Given the description of an element on the screen output the (x, y) to click on. 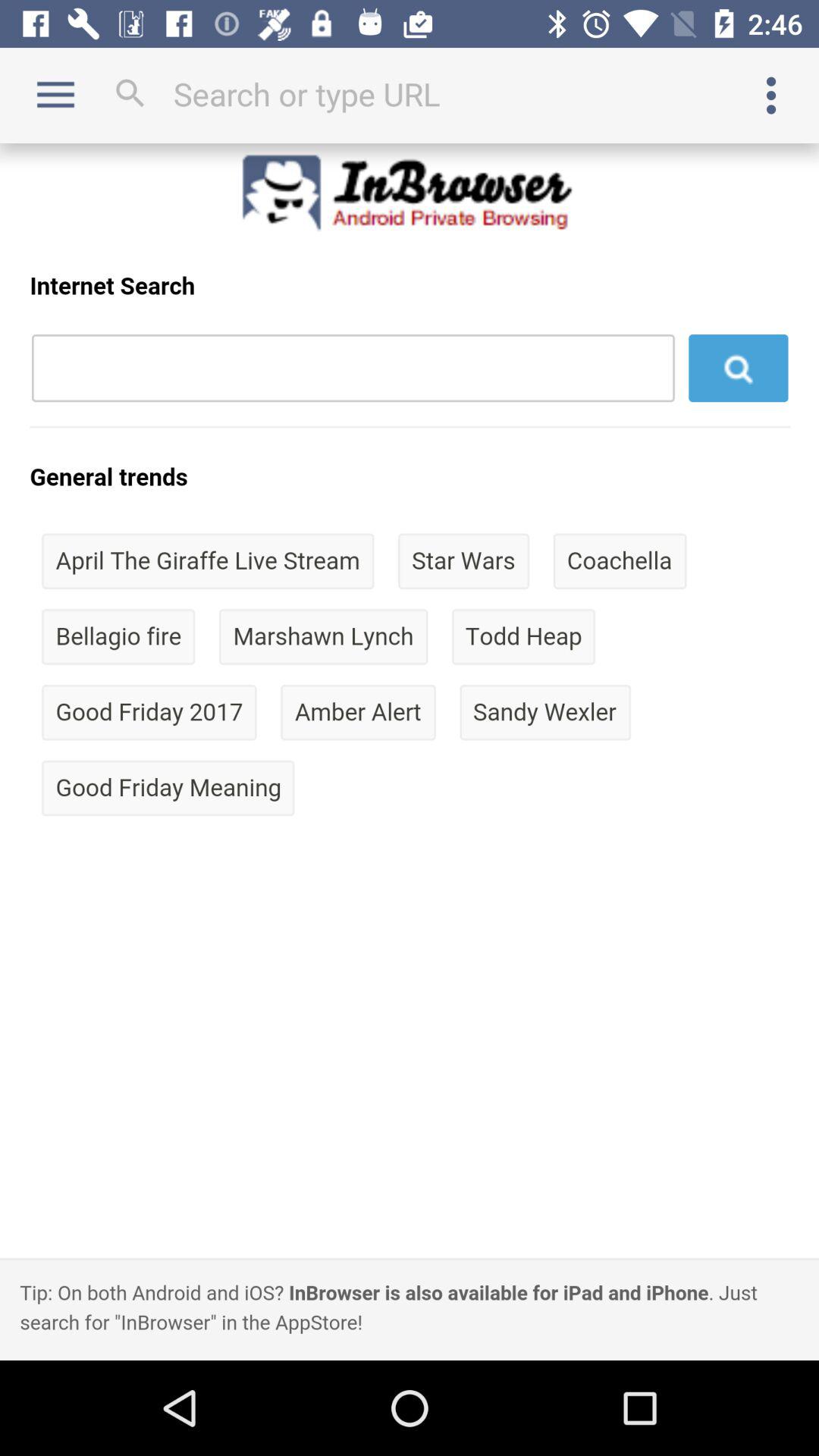
type url (409, 94)
